Given the description of an element on the screen output the (x, y) to click on. 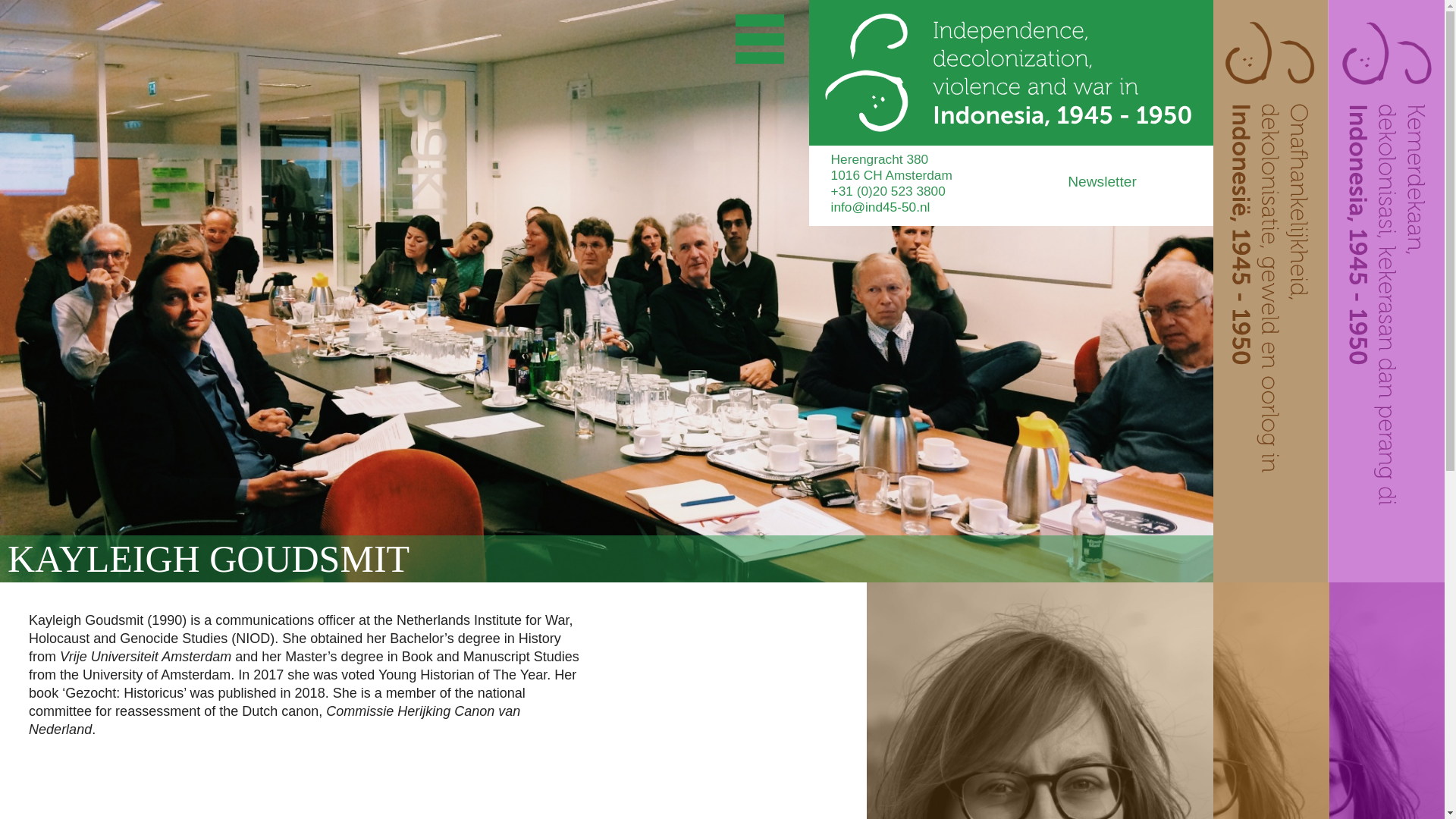
Drupal (1010, 72)
Newsletter (1139, 185)
Home (1010, 72)
